Given the description of an element on the screen output the (x, y) to click on. 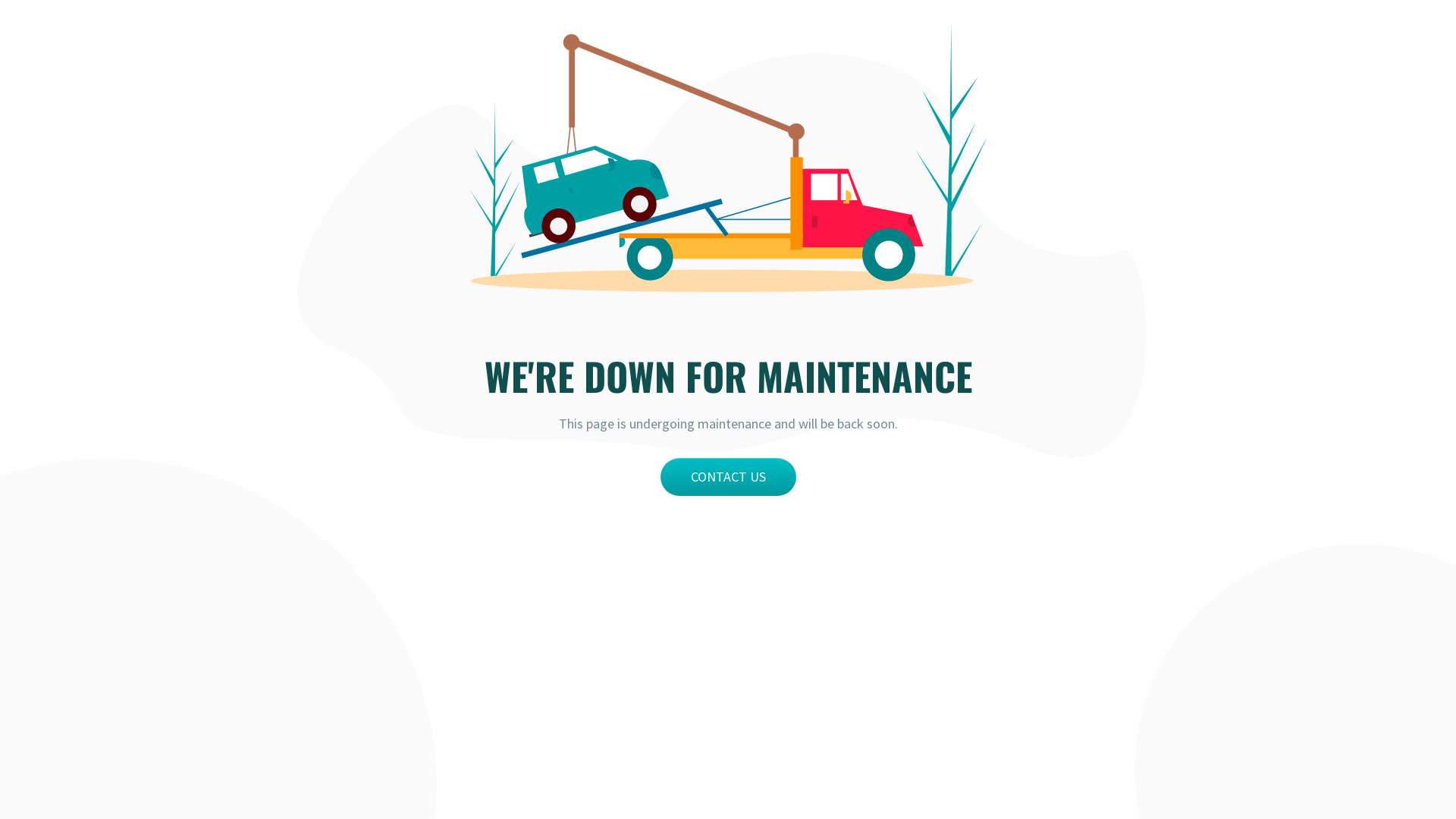
CONTACT US Element type: text (727, 476)
